Given the description of an element on the screen output the (x, y) to click on. 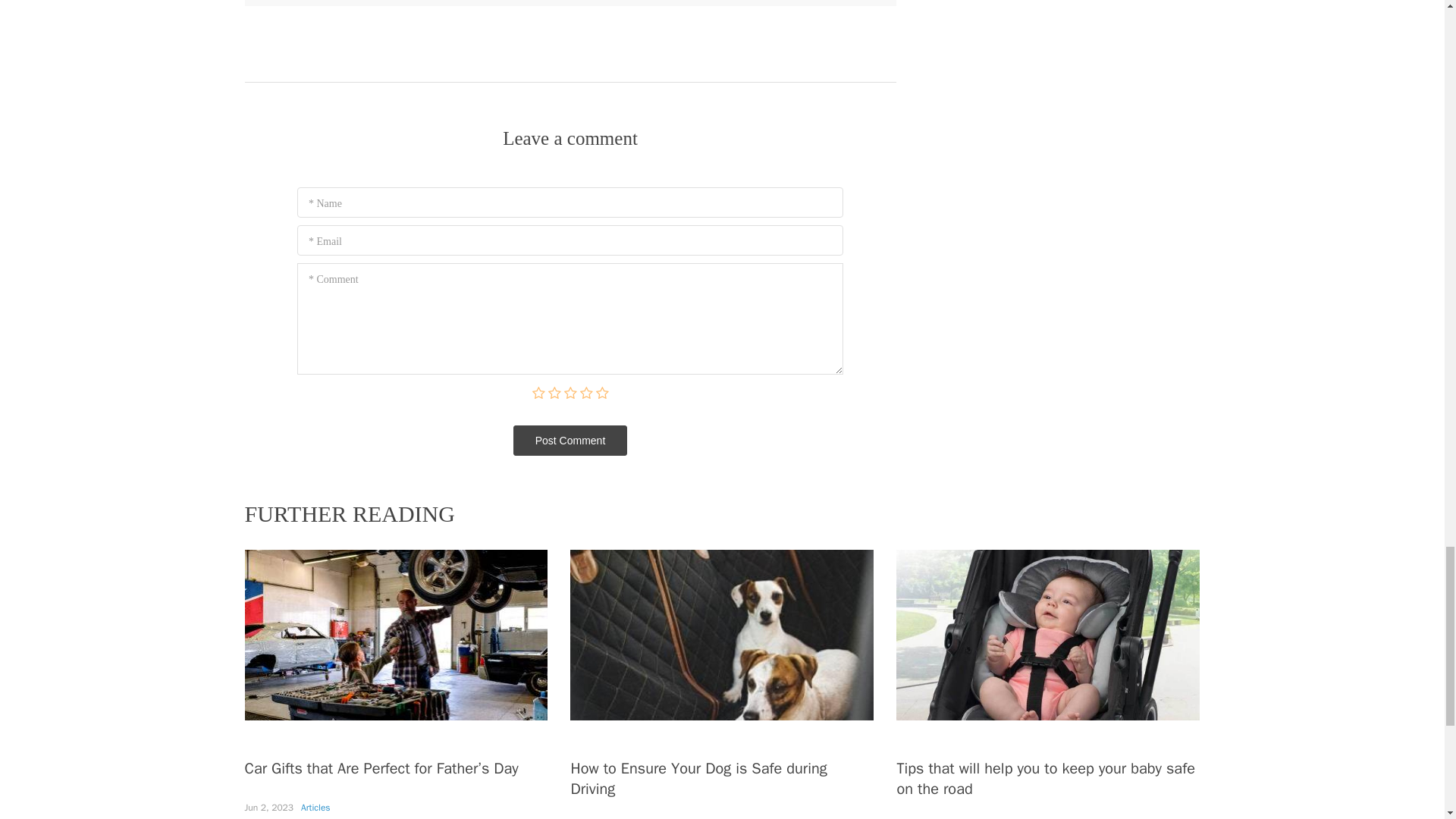
Tips that will help you to keep your baby safe on the road (1044, 778)
How to Ensure Your Dog is Safe during Driving (698, 778)
Articles (315, 807)
